Given the description of an element on the screen output the (x, y) to click on. 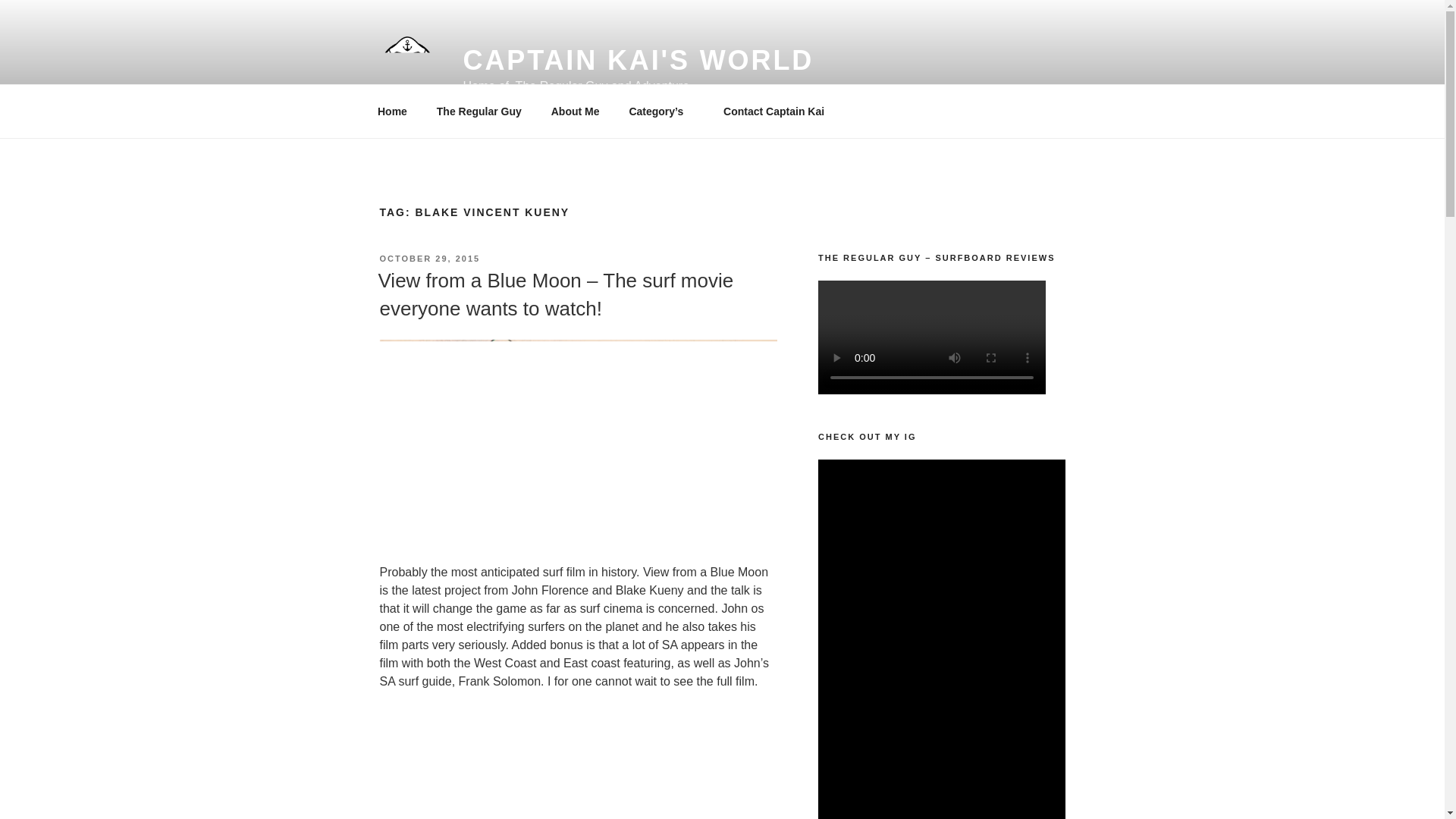
Contact Captain Kai (774, 110)
About Me (574, 110)
OCTOBER 29, 2015 (429, 257)
Home (392, 110)
CAPTAIN KAI'S WORLD (638, 60)
The Regular Guy (478, 110)
